Given the description of an element on the screen output the (x, y) to click on. 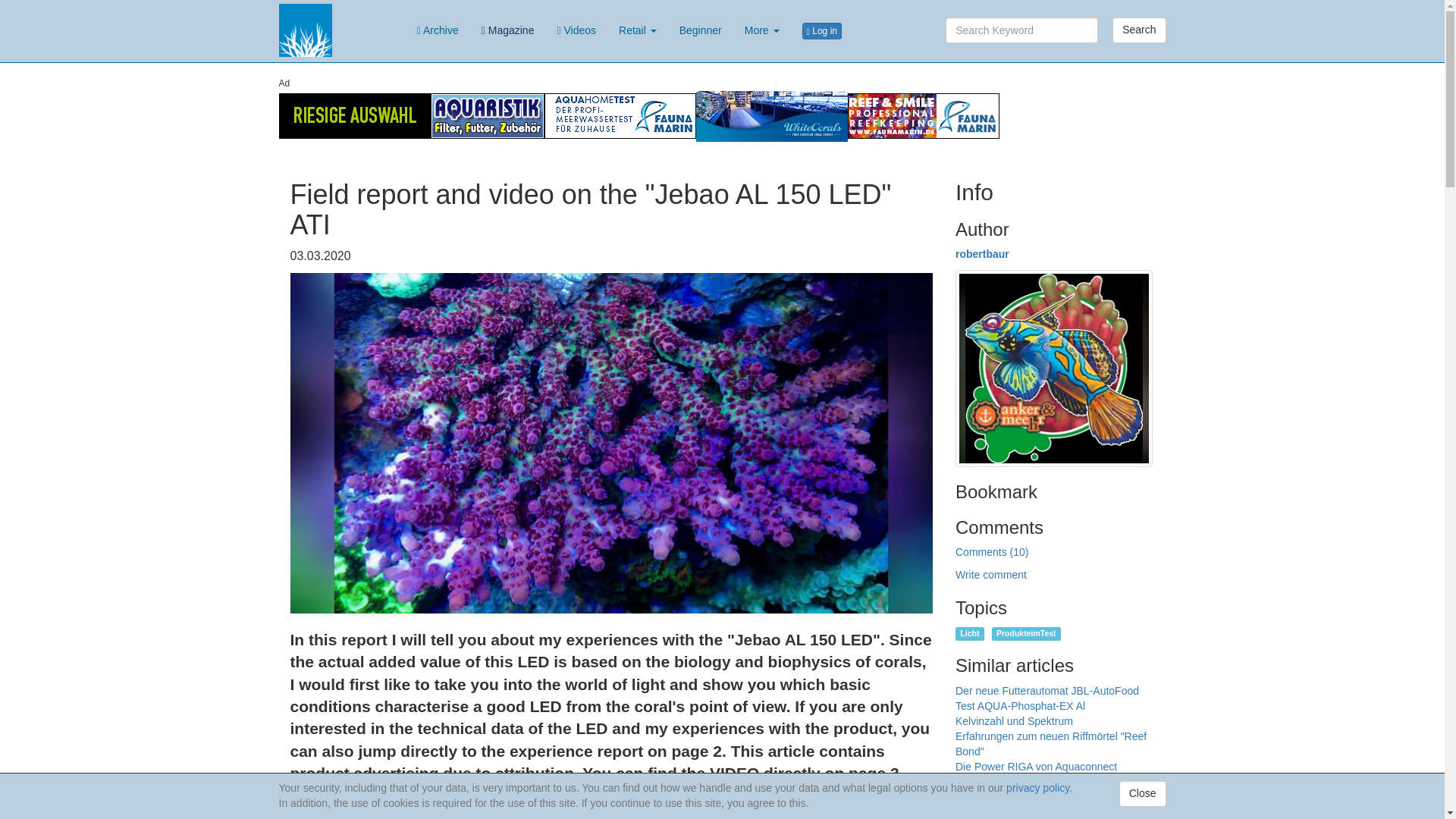
Retail (637, 30)
Die Power RIGA von Aquaconnect (1035, 766)
Kelvinzahl und Spektrum (1014, 720)
Test AQUA-Phosphat-EX Al (1019, 705)
Archive (438, 30)
Beginner (700, 30)
Magazine (508, 30)
More (761, 30)
Write comment (990, 574)
Videos (575, 30)
Log in (821, 30)
Licht (969, 632)
Der neue Futterautomat JBL-AutoFood (1046, 690)
robertbaur (982, 254)
Search (1139, 30)
